Given the description of an element on the screen output the (x, y) to click on. 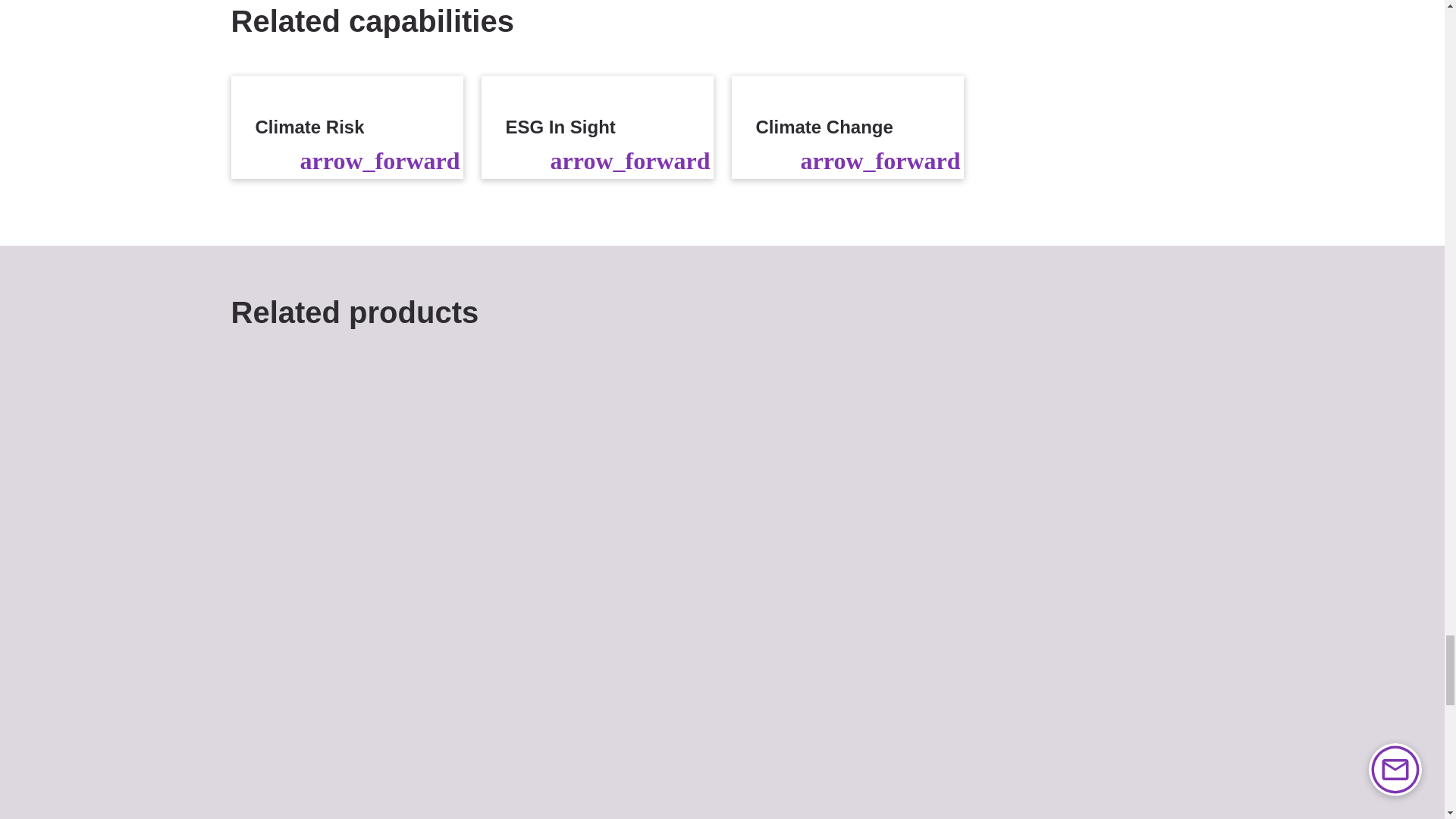
Climate Risk (346, 127)
ESG In Sight (596, 127)
Climate Change (846, 127)
